Given the description of an element on the screen output the (x, y) to click on. 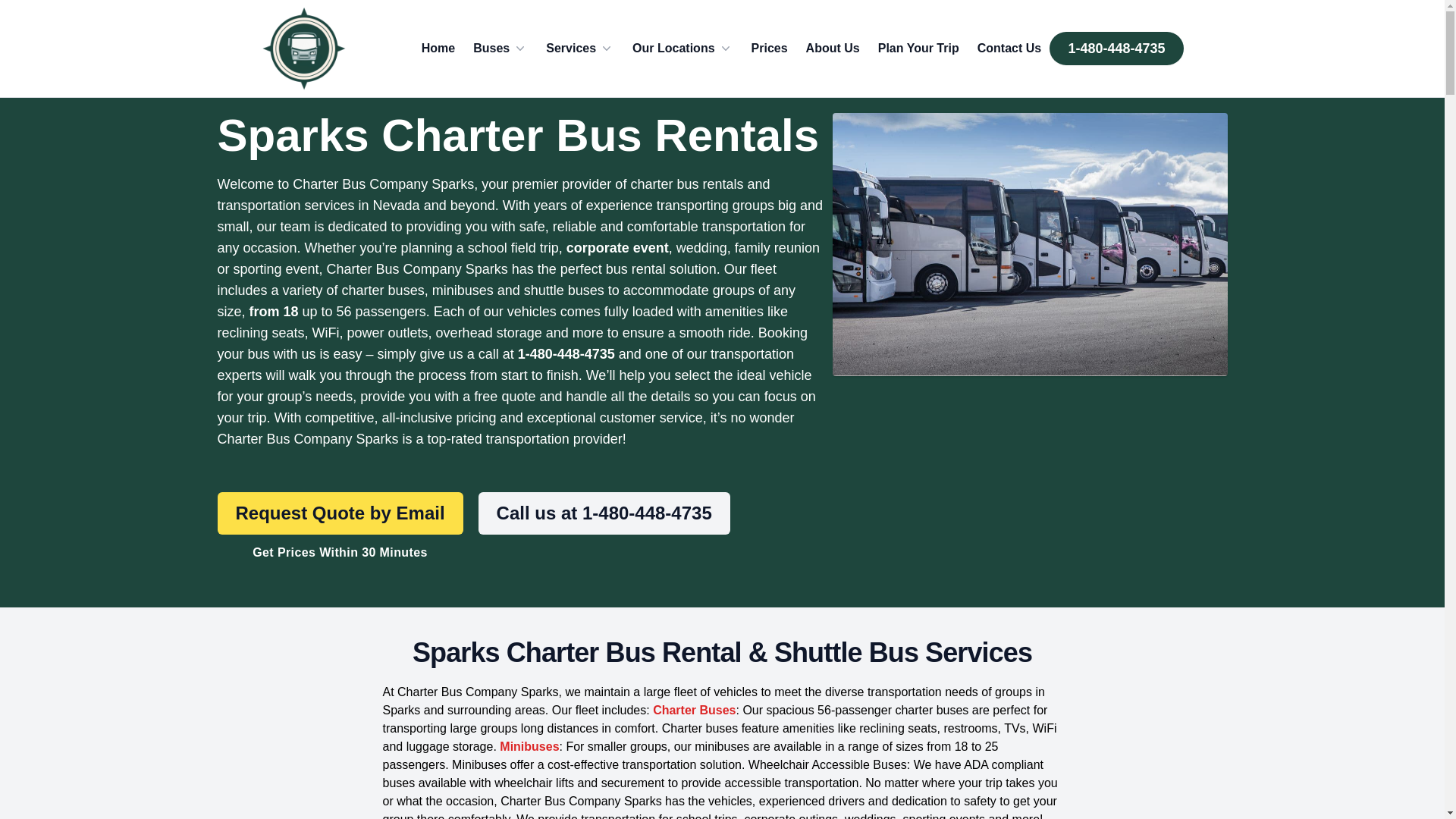
Plan Your Trip (918, 48)
Prices (769, 48)
1-480-448-4735 (1115, 48)
About Us (833, 48)
Contact Us (1008, 48)
Charter Bus Company Reno, (303, 48)
Services (580, 48)
Buses (500, 48)
Home (438, 48)
Our Locations (681, 48)
